Given the description of an element on the screen output the (x, y) to click on. 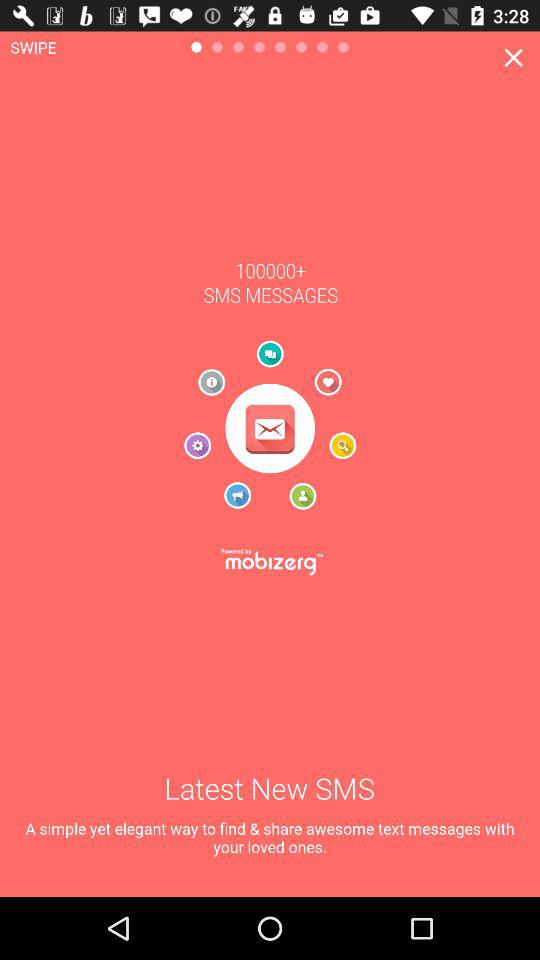
close page (513, 57)
